Given the description of an element on the screen output the (x, y) to click on. 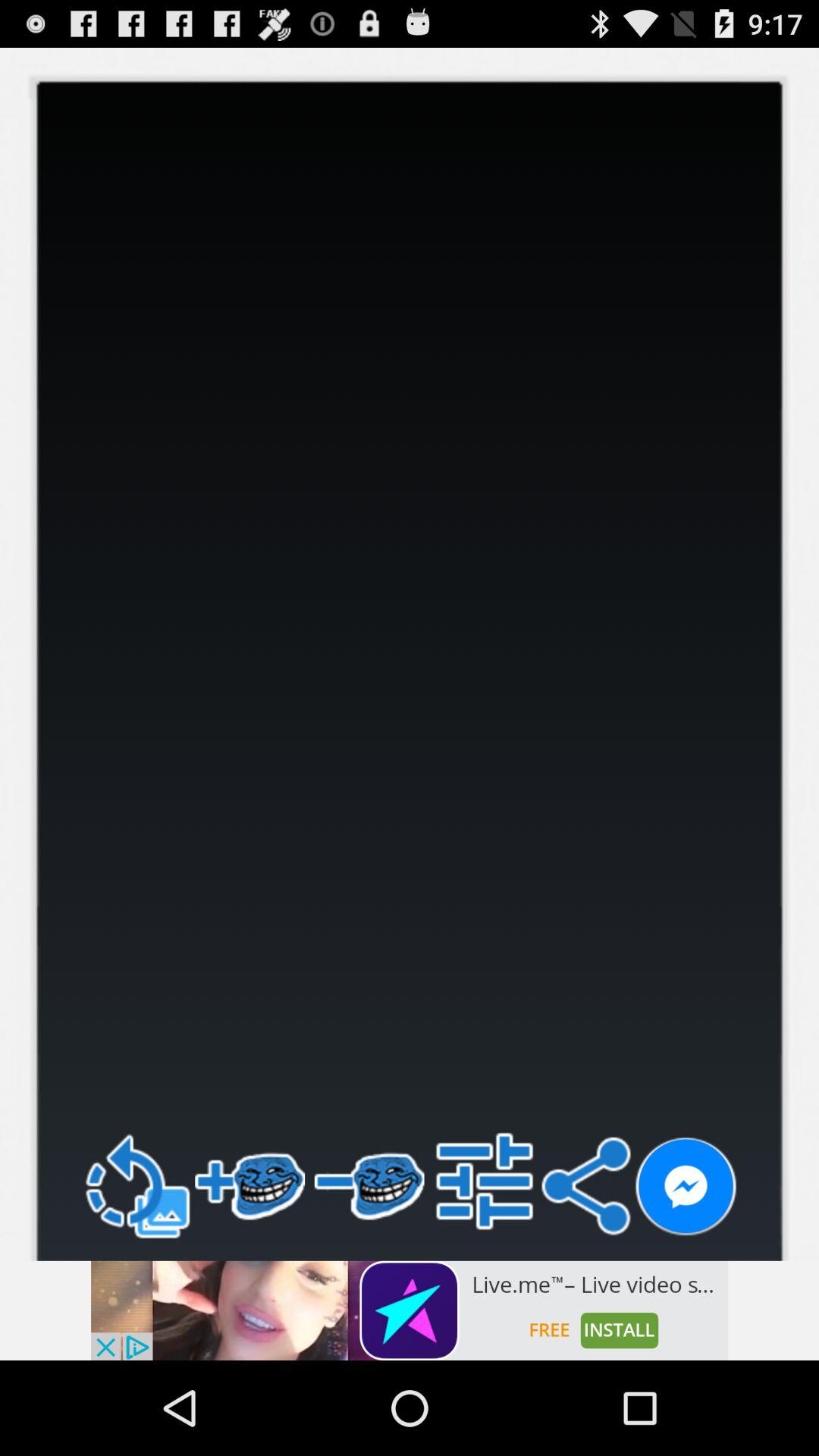
install app (409, 1310)
